Given the description of an element on the screen output the (x, y) to click on. 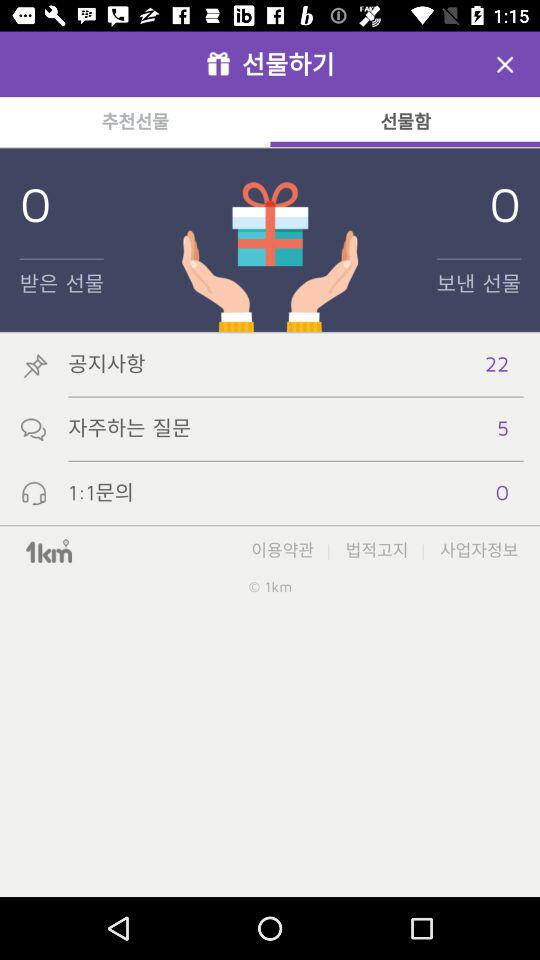
close (505, 64)
